Given the description of an element on the screen output the (x, y) to click on. 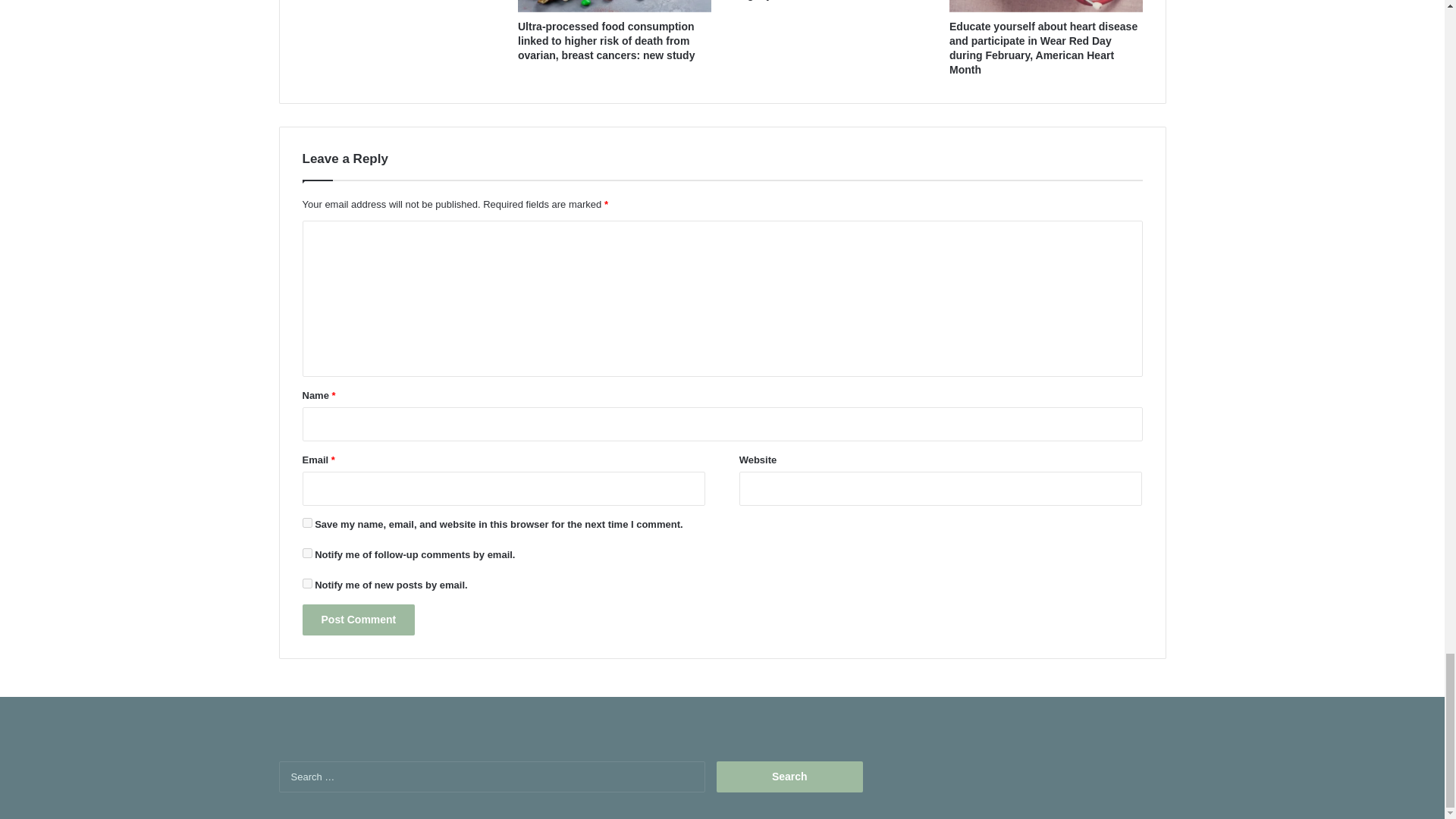
subscribe (306, 583)
Post Comment (357, 619)
yes (306, 522)
Search (789, 776)
subscribe (306, 552)
Search (789, 776)
